Given the description of an element on the screen output the (x, y) to click on. 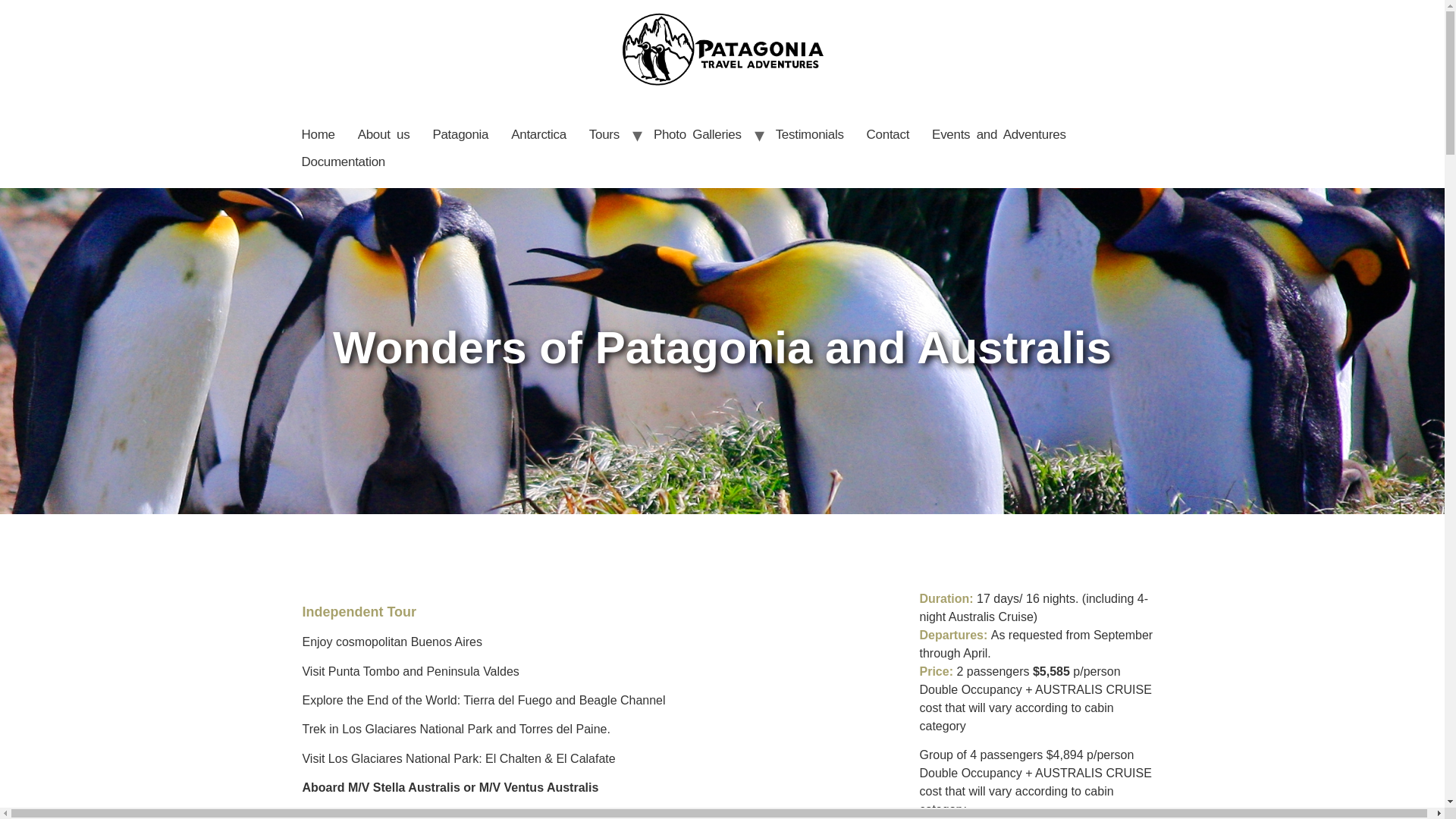
Patagonia (459, 134)
Documentation (342, 162)
Home (317, 134)
Photo Galleries (697, 134)
Events and Adventures (998, 134)
Antarctica (538, 134)
Tours (604, 134)
About us (384, 134)
Testimonials (810, 134)
Contact (888, 134)
